Given the description of an element on the screen output the (x, y) to click on. 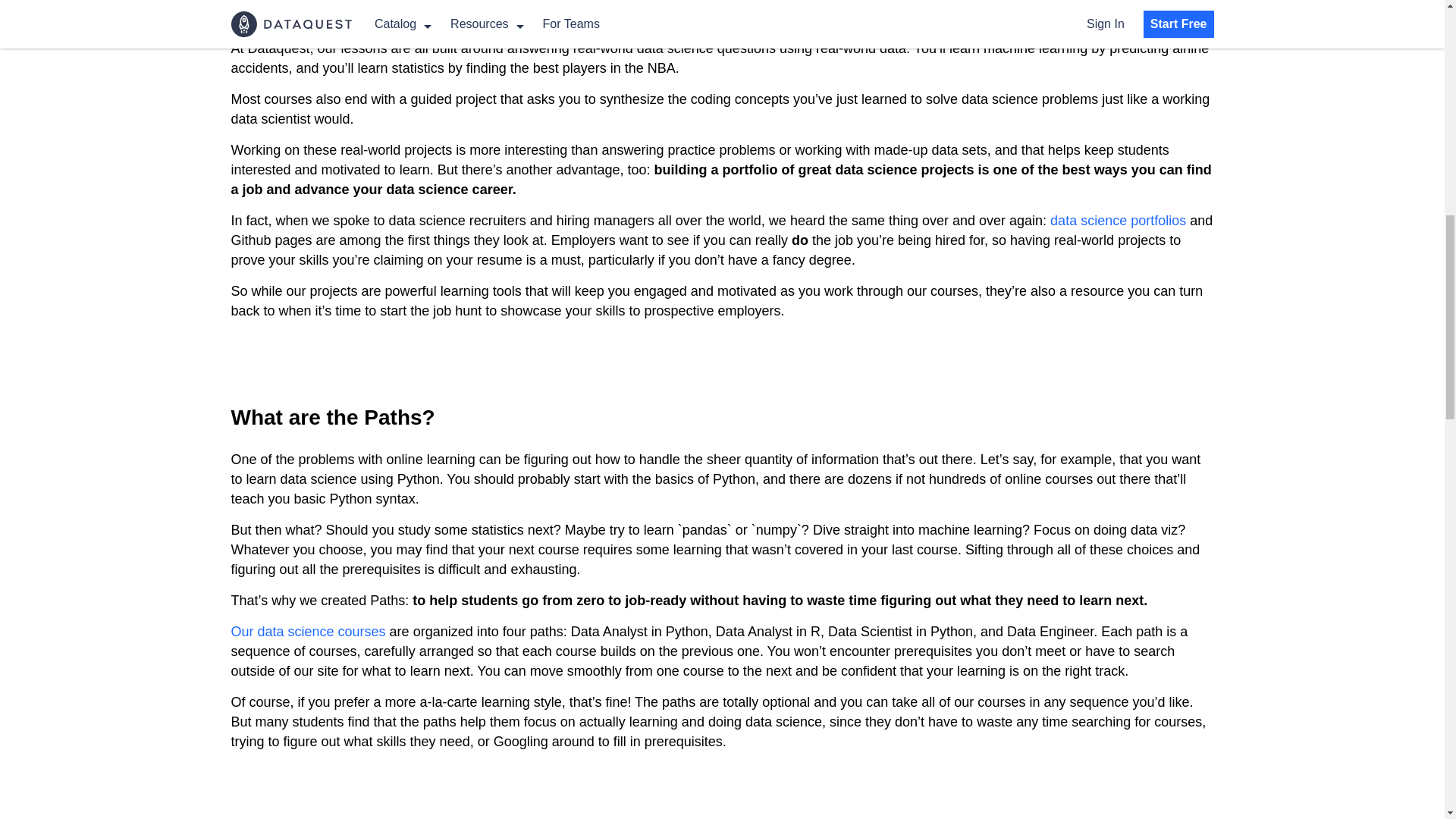
data science portfolios (1117, 220)
Our data science courses (307, 631)
